Given the description of an element on the screen output the (x, y) to click on. 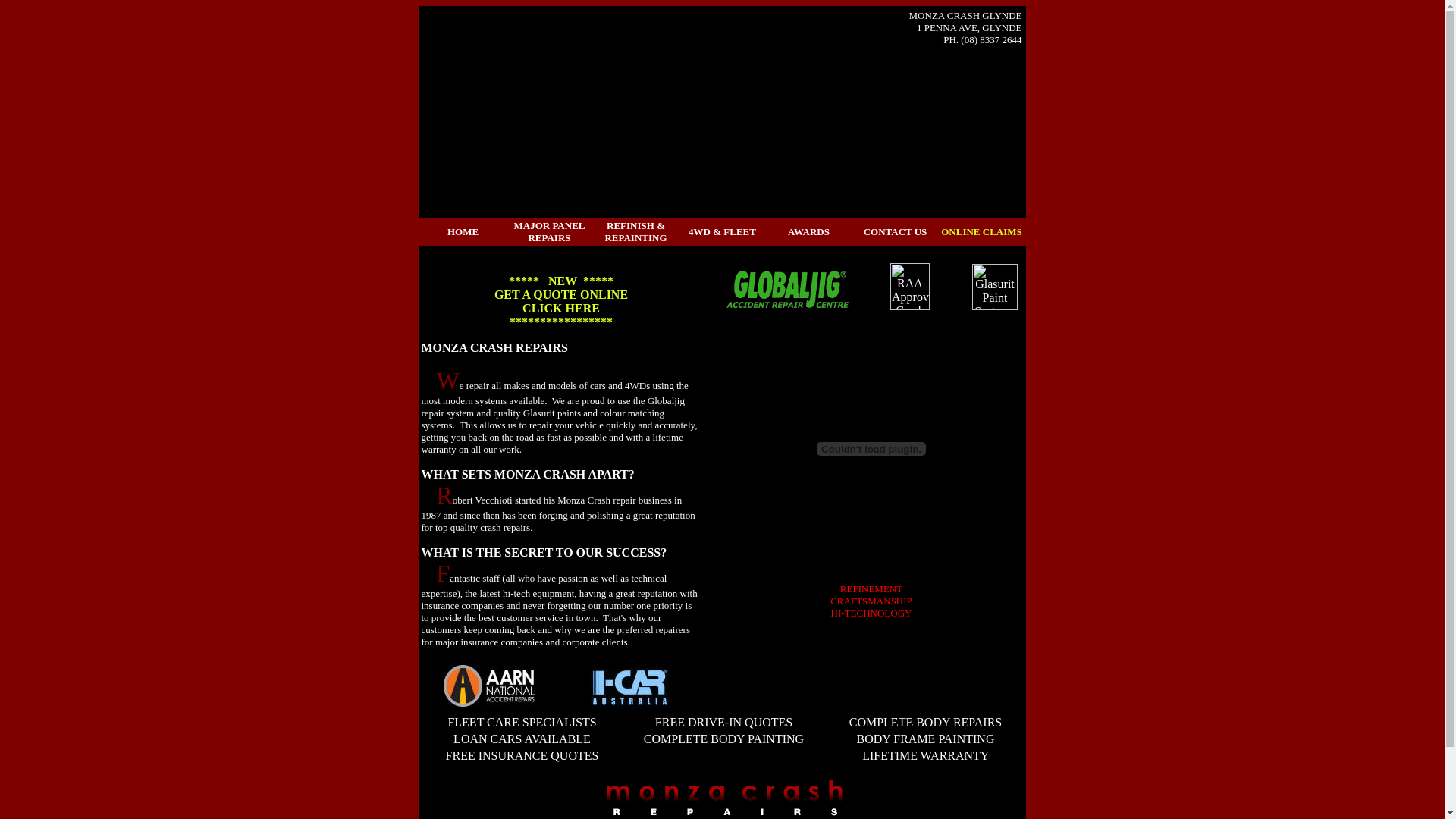
REFINISH & REPAINTING Element type: text (635, 231)
MAJOR PANEL REPAIRS Element type: text (548, 231)
AWARDS Element type: text (808, 230)
ONLINE CLAIMS Element type: text (981, 231)
CONTACT US Element type: text (895, 231)
HOME Element type: text (462, 231)
4WD & FLEET Element type: text (722, 231)
MONZA CRASH GLYNDE
1 PENNA AVE, GLYNDE Element type: text (965, 21)
